Given the description of an element on the screen output the (x, y) to click on. 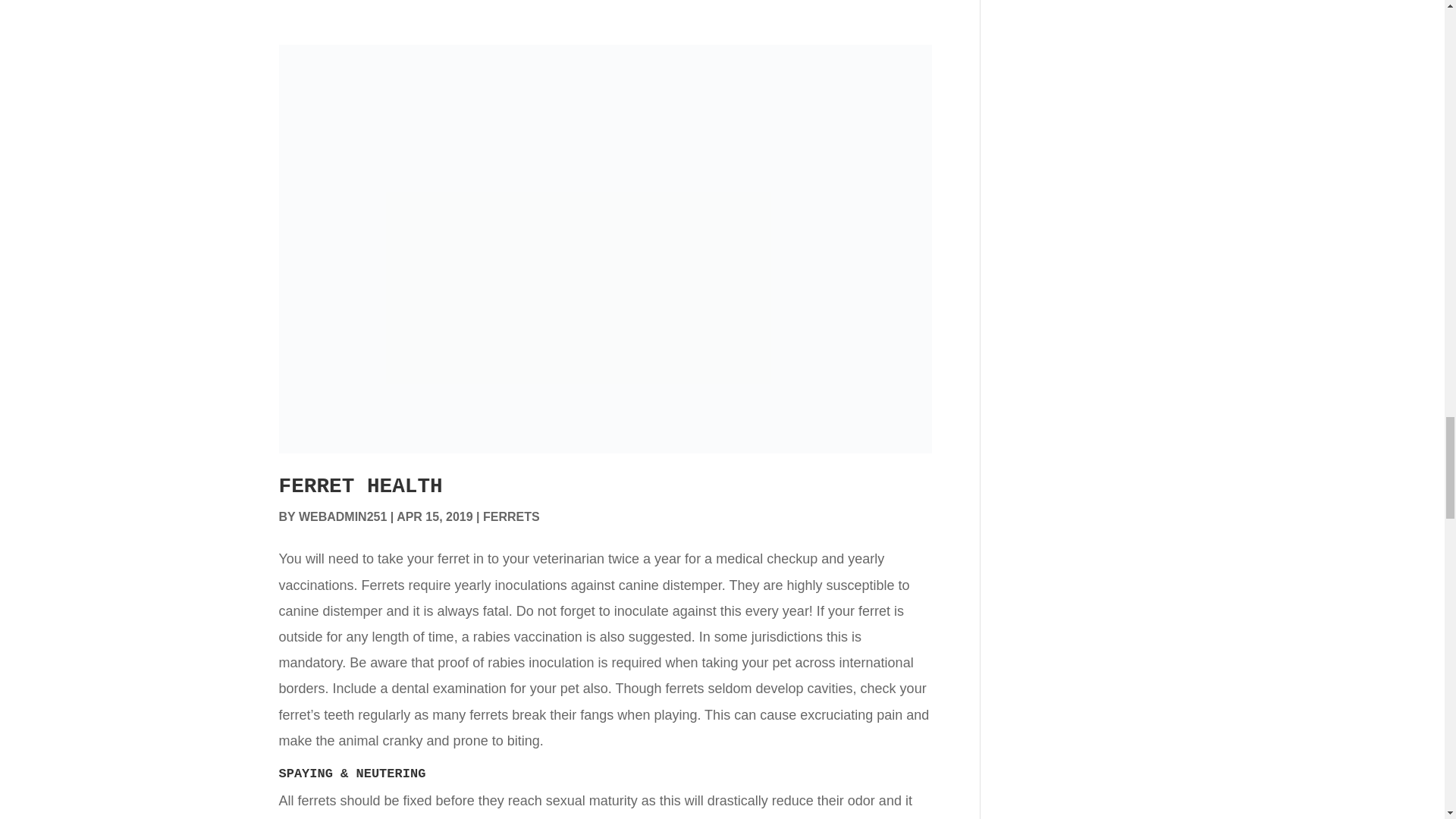
Posts by webadmin251 (342, 516)
